Given the description of an element on the screen output the (x, y) to click on. 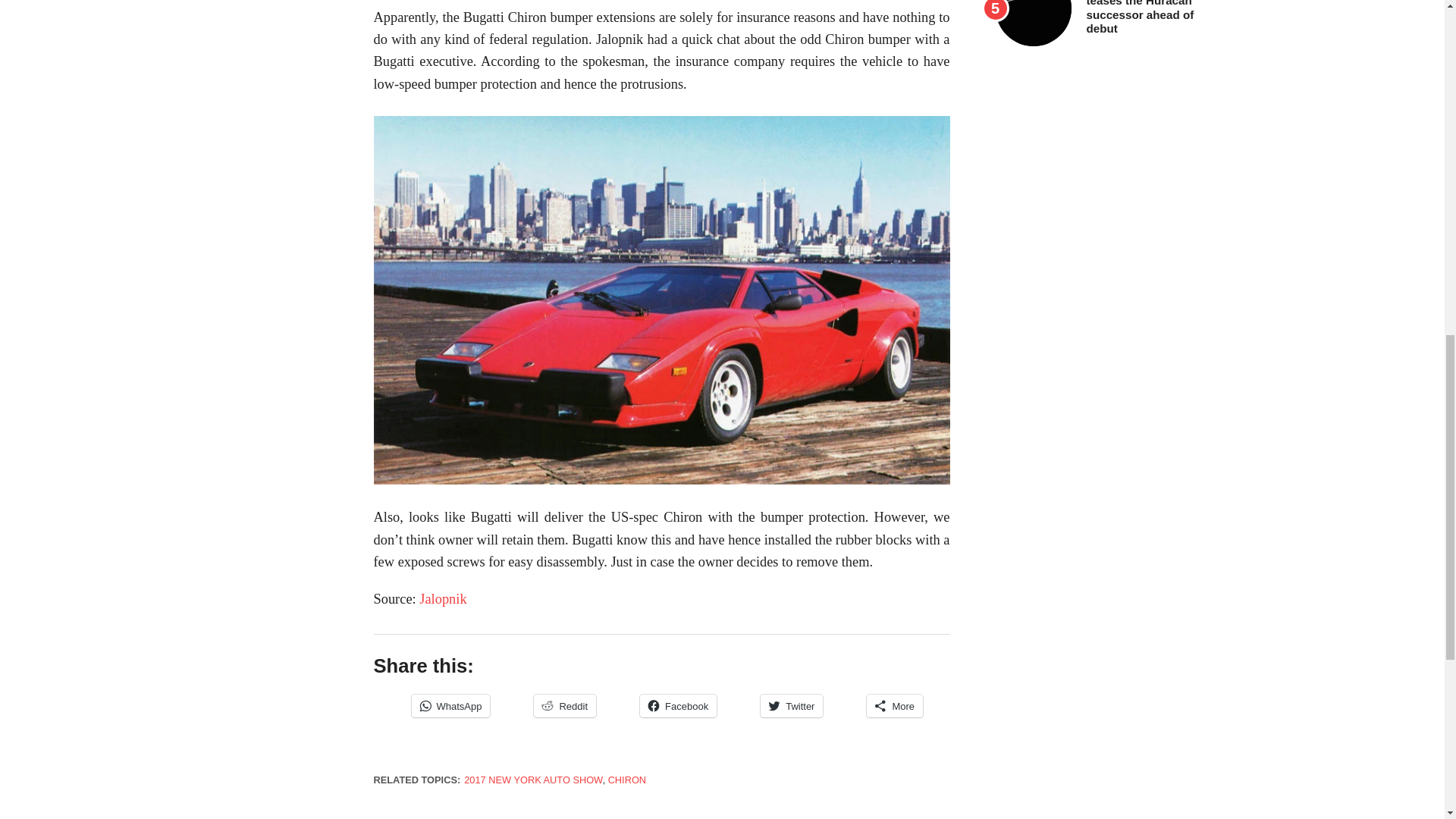
More (894, 705)
Reddit (564, 705)
Twitter (791, 705)
Click to share on Twitter (791, 705)
Facebook (678, 705)
Click to share on Reddit (564, 705)
WhatsApp (449, 705)
Jalopnik (442, 598)
Click to share on WhatsApp (449, 705)
CHIRON (627, 779)
